Given the description of an element on the screen output the (x, y) to click on. 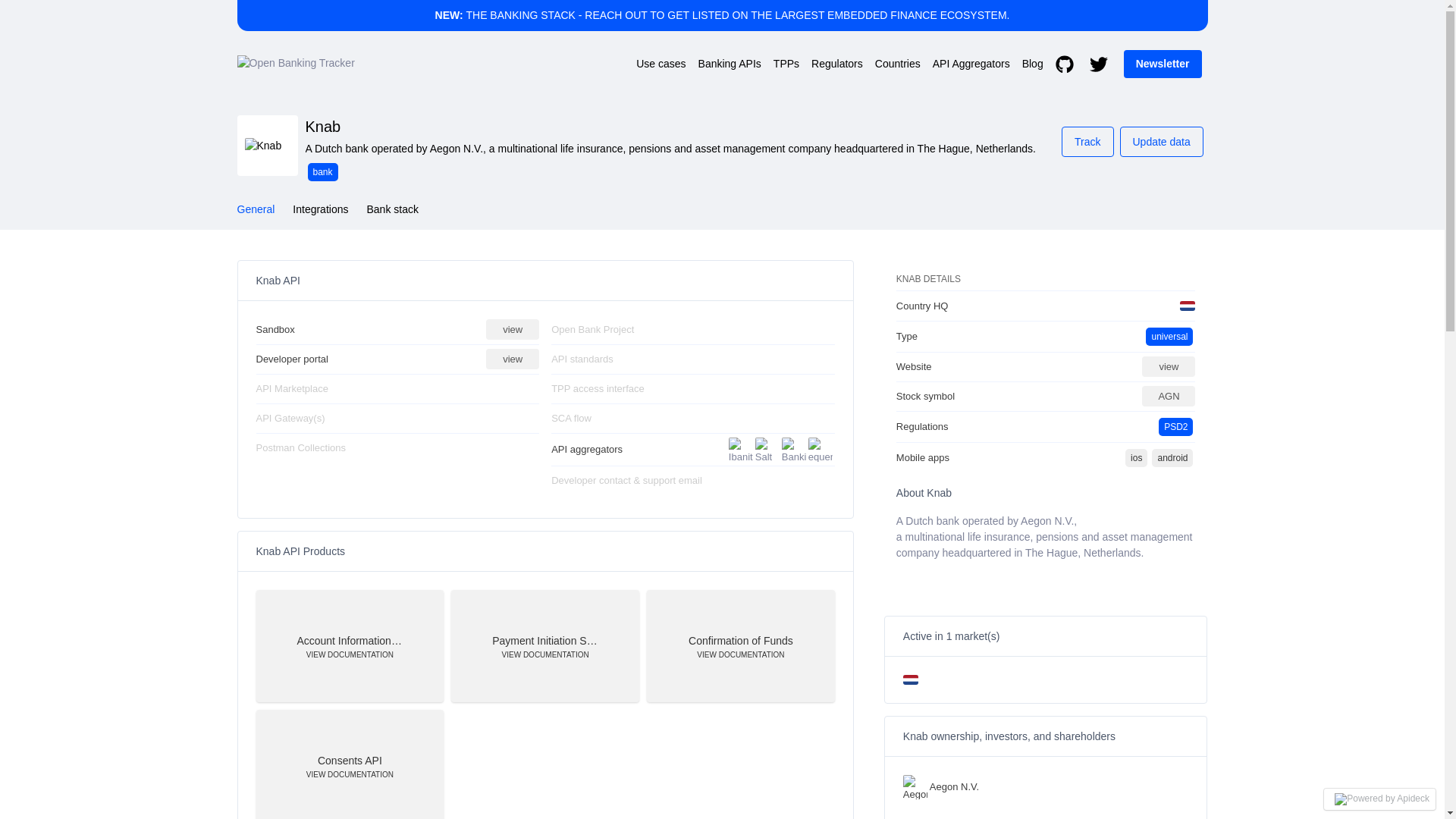
Bank stack (391, 209)
Knab (323, 126)
Newsletter (1163, 63)
view (1168, 366)
Knab (266, 145)
Update data (1160, 141)
view (512, 359)
Blog (1032, 64)
API Aggregators (971, 64)
General (255, 209)
view (512, 329)
Ibanity (740, 449)
android (1172, 457)
Banking APIs (729, 64)
